Given the description of an element on the screen output the (x, y) to click on. 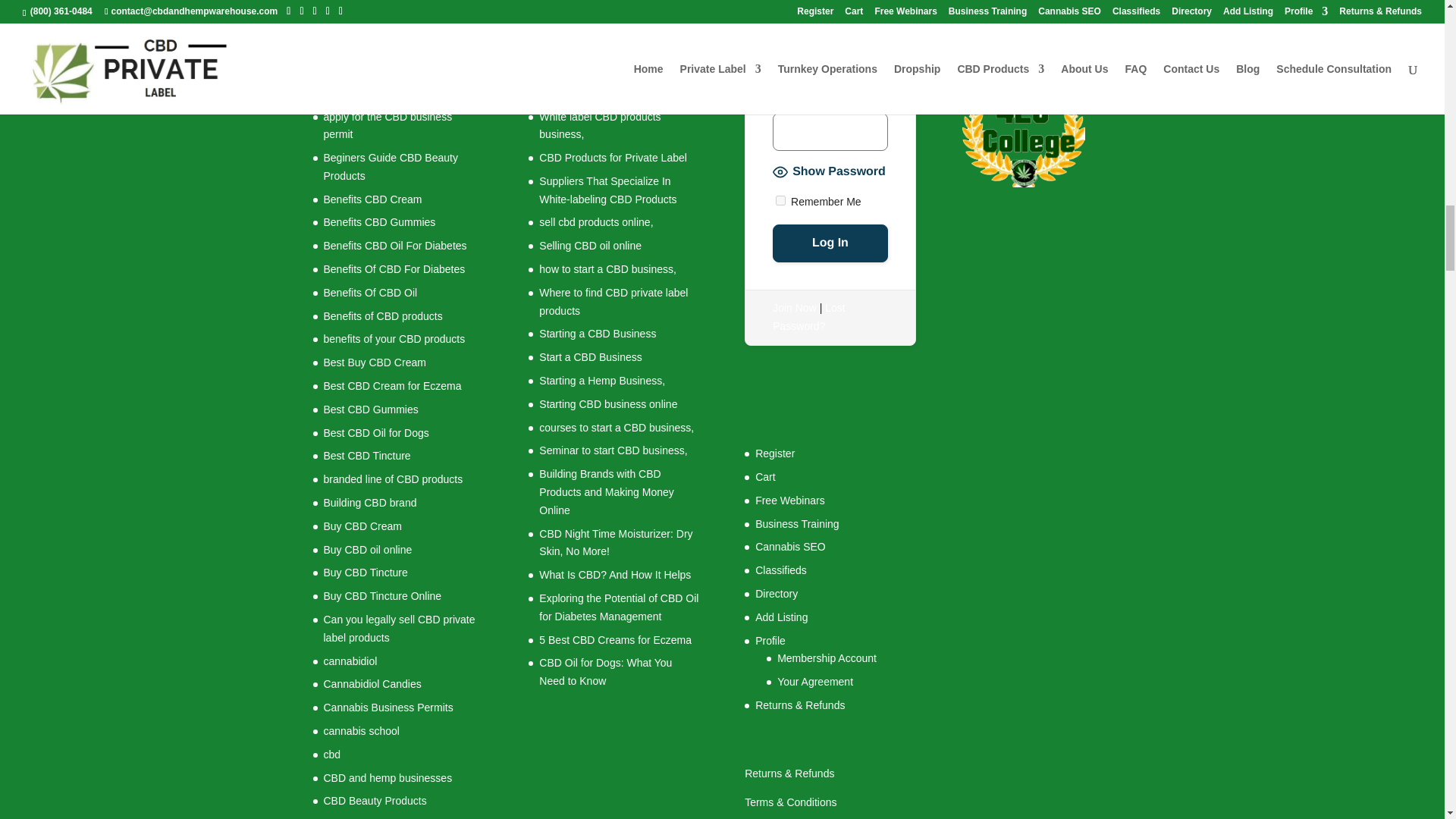
forever (781, 200)
Log In (829, 243)
